Given the description of an element on the screen output the (x, y) to click on. 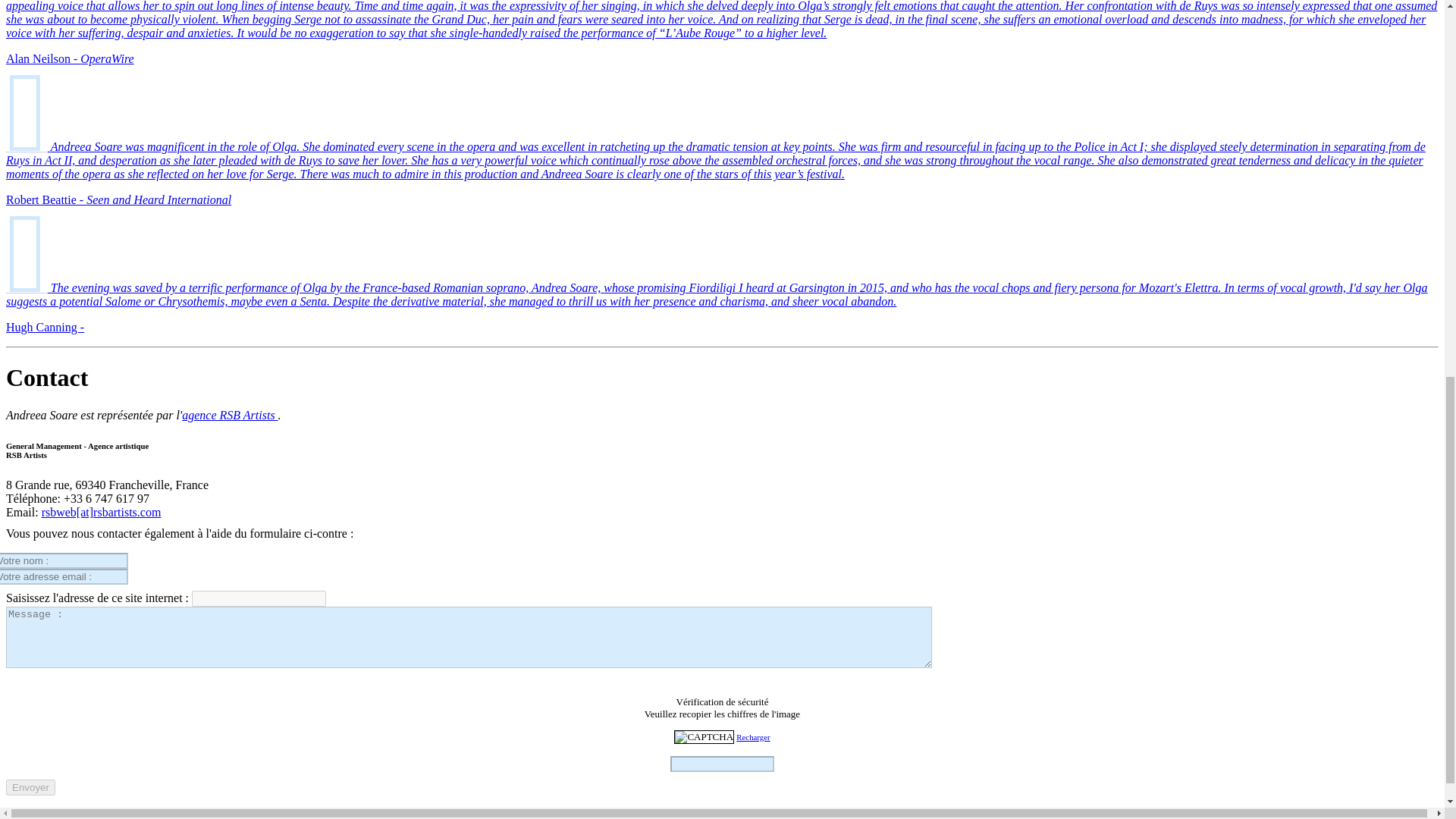
Recharger (753, 737)
Envoyer (30, 787)
agence RSB Artists (230, 414)
